Given the description of an element on the screen output the (x, y) to click on. 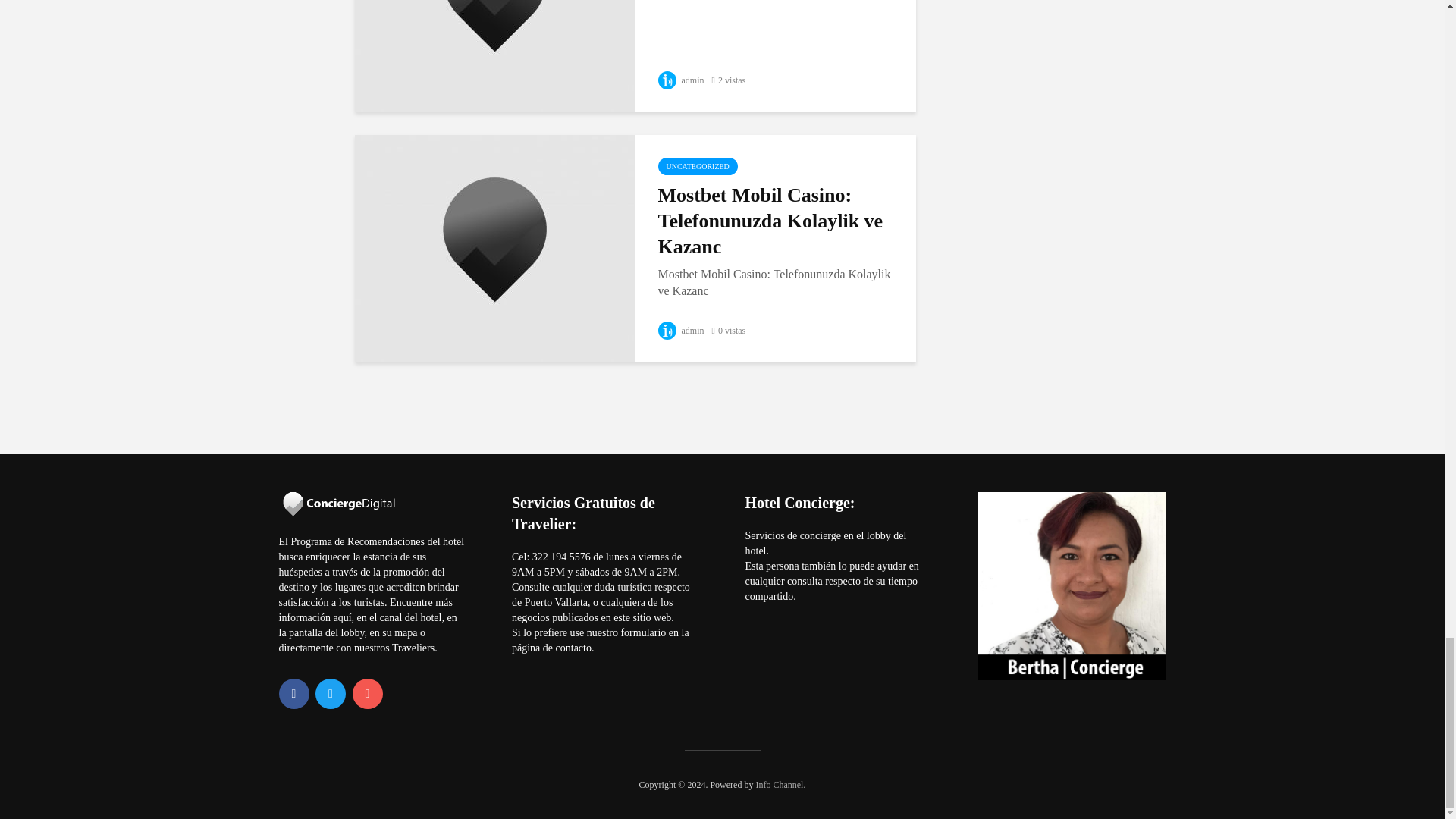
156074661720152046 (494, 2)
Mostbet Mobil Casino: Telefonunuzda Kolaylik ve Kazanc (494, 246)
